Given the description of an element on the screen output the (x, y) to click on. 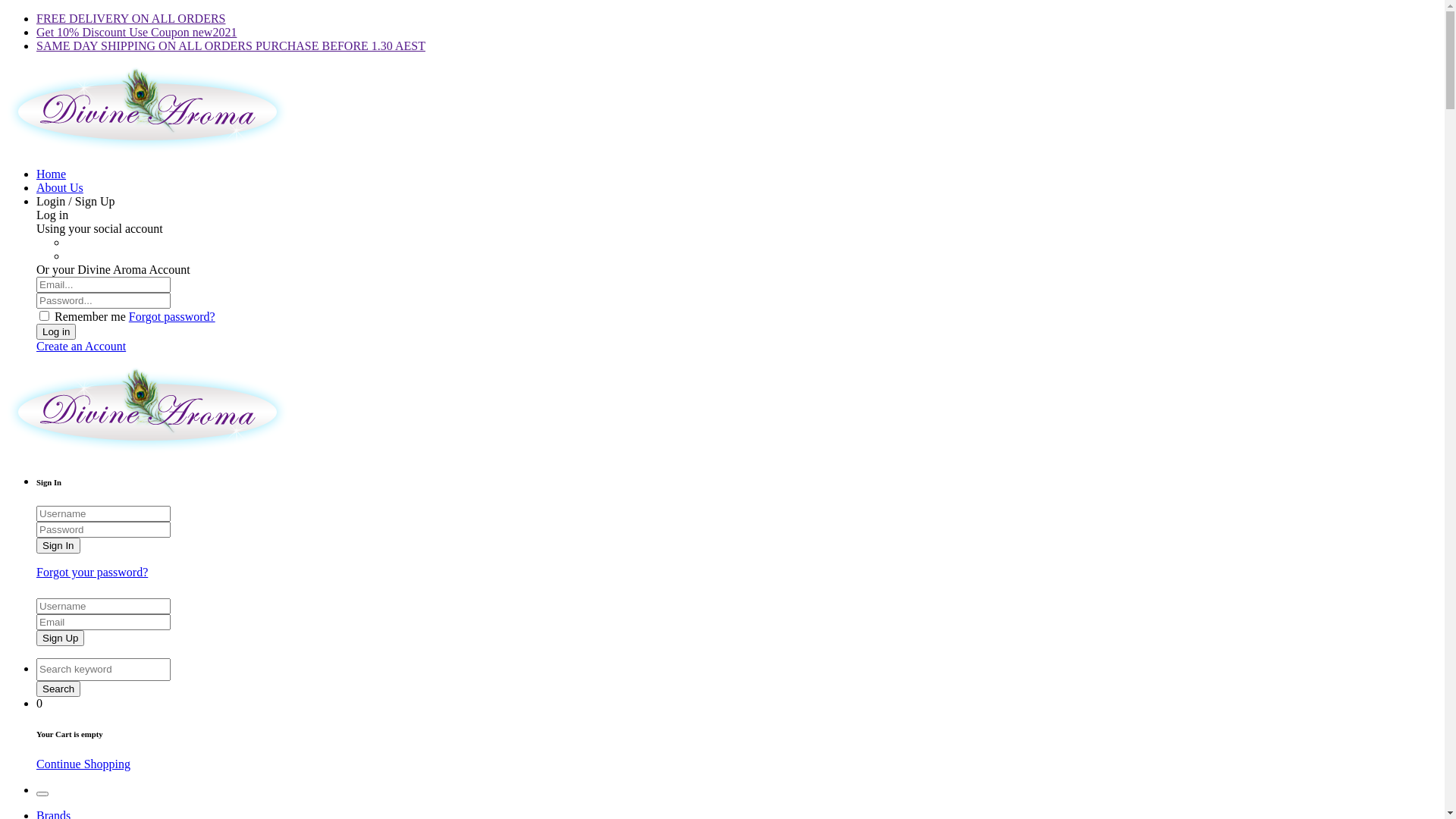
Continue Shopping Element type: text (83, 763)
Sign In Element type: text (58, 545)
Divine Aroma Element type: hover (147, 448)
Forgot your password? Element type: text (91, 571)
SAME DAY SHIPPING ON ALL ORDERS PURCHASE BEFORE 1.30 AEST Element type: text (230, 45)
Home Element type: text (50, 173)
Log in Element type: text (55, 331)
Get 10% Discount Use Coupon new2021 Element type: text (136, 31)
About Us Element type: text (59, 187)
Forgot password? Element type: text (171, 316)
Divine Aroma Element type: hover (147, 147)
Search Element type: text (58, 688)
Sign Up Element type: text (60, 638)
Create an Account Element type: text (80, 345)
FREE DELIVERY ON ALL ORDERS Element type: text (130, 18)
